Given the description of an element on the screen output the (x, y) to click on. 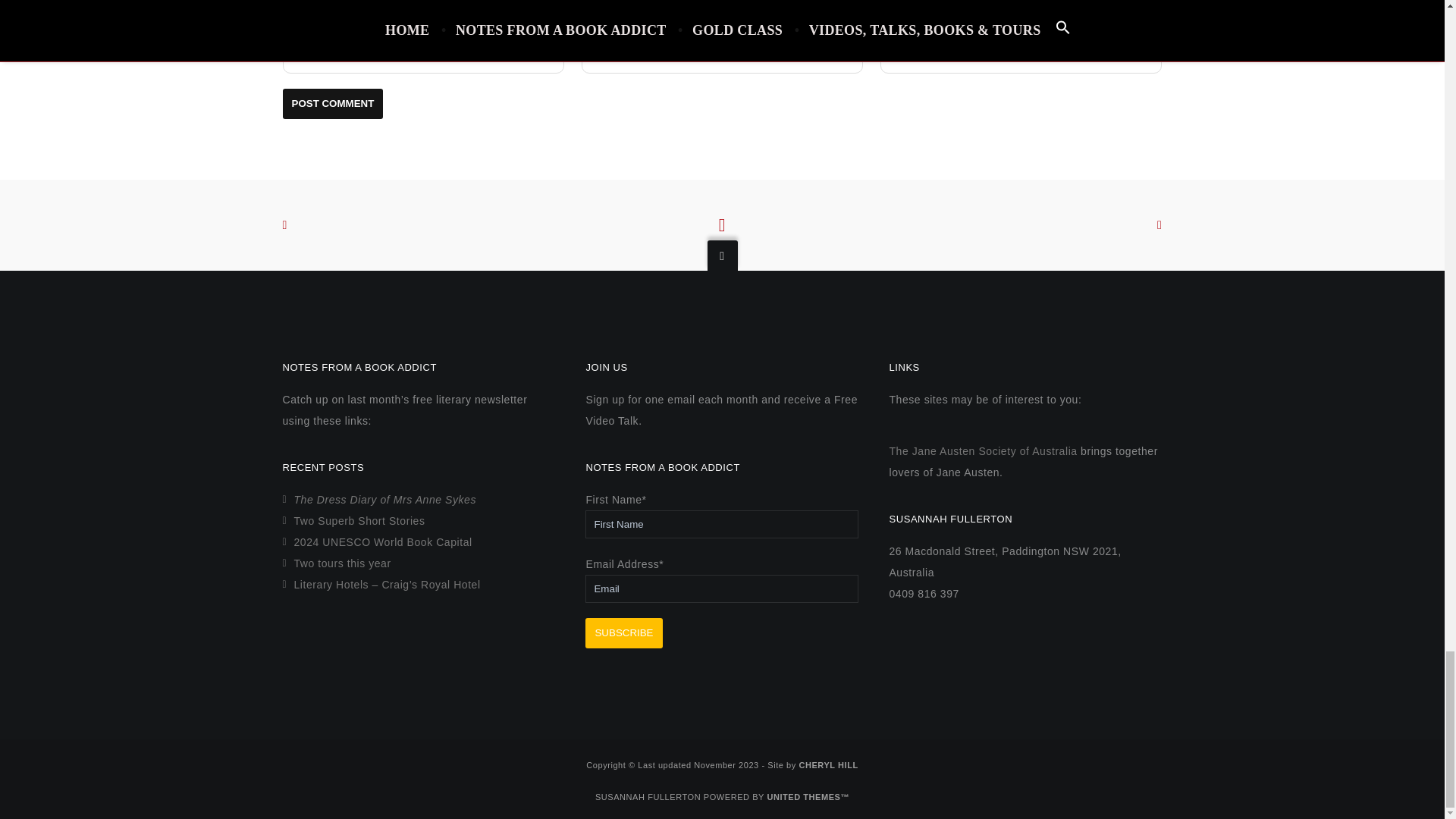
Post Comment (332, 102)
Subscribe (623, 633)
